Given the description of an element on the screen output the (x, y) to click on. 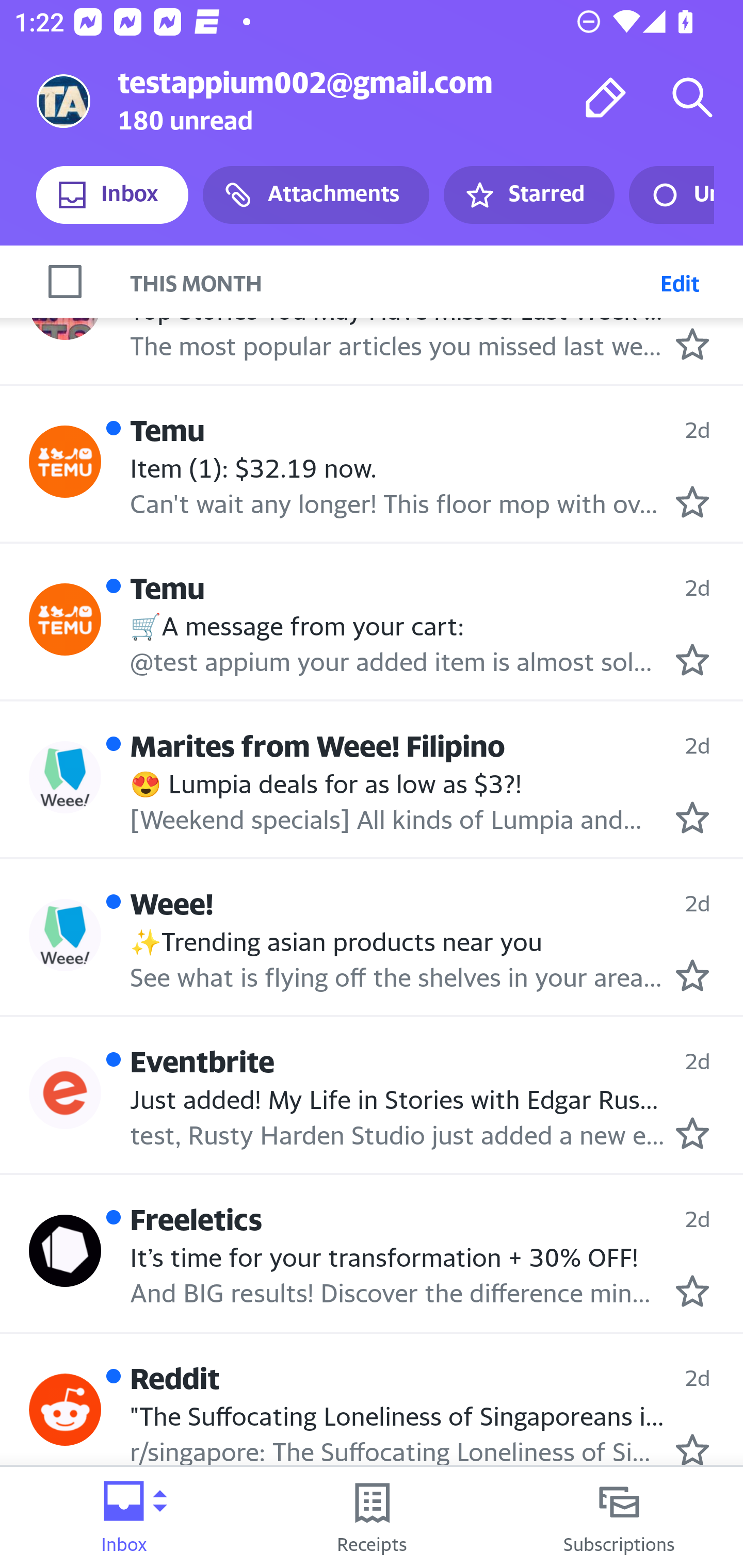
Compose (605, 97)
Search mail (692, 97)
Attachments (315, 195)
Starred (528, 195)
Mark as starred. (692, 344)
Profile
Temu (64, 460)
Mark as starred. (692, 502)
Profile
Temu (64, 619)
Mark as starred. (692, 659)
Profile
Marites from Weee! Filipino (64, 777)
Mark as starred. (692, 817)
Profile
Weee! (64, 934)
Mark as starred. (692, 976)
Profile
Eventbrite (64, 1092)
Mark as starred. (692, 1132)
Profile
Freeletics (64, 1251)
Mark as starred. (692, 1291)
Profile
Reddit (64, 1409)
Mark as starred. (692, 1449)
Inbox Folder picker (123, 1517)
Receipts (371, 1517)
Subscriptions (619, 1517)
